Given the description of an element on the screen output the (x, y) to click on. 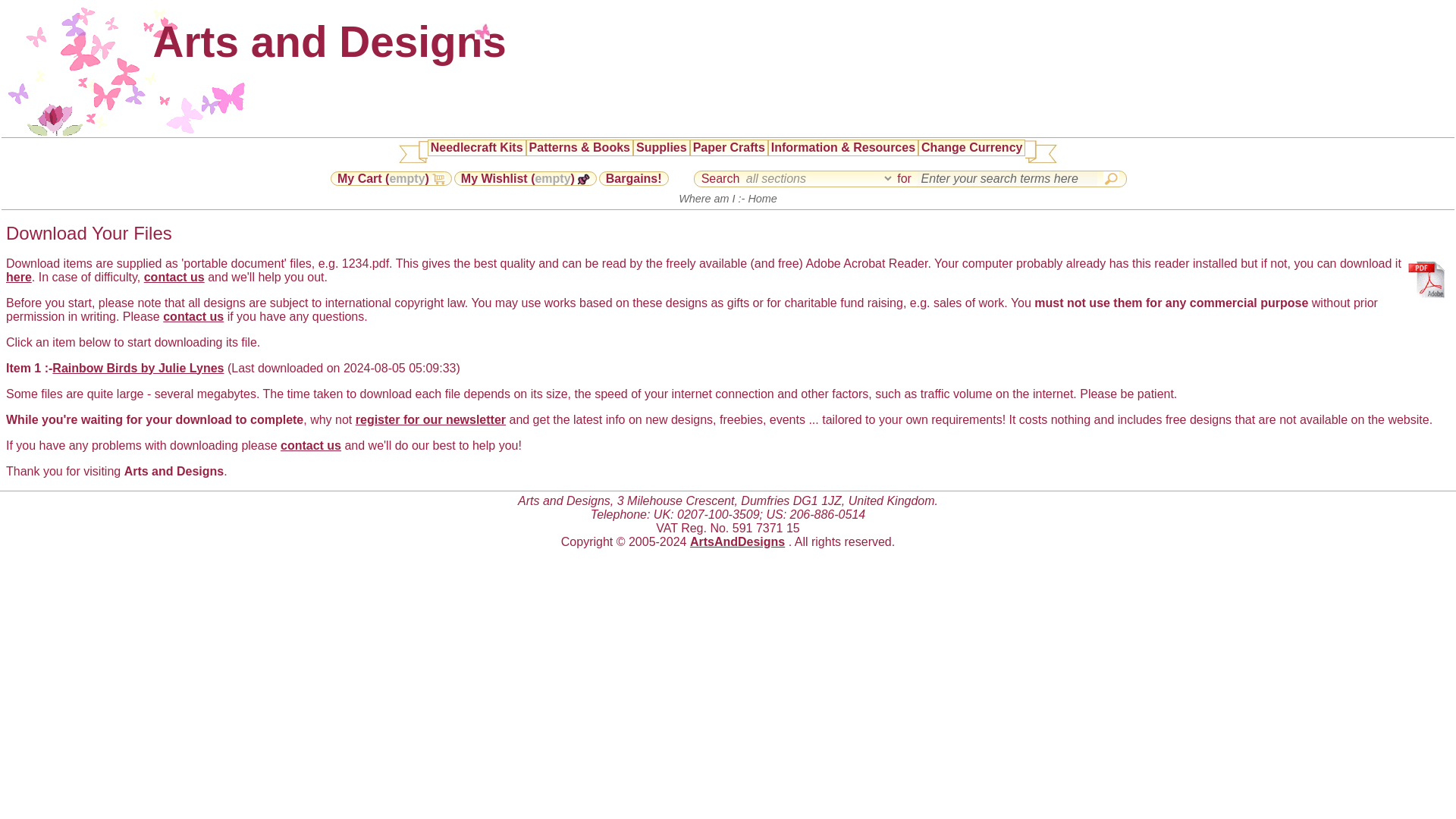
Supplies (661, 147)
ArtsAndDesigns (737, 541)
Paper Crafts (729, 147)
Needlecraft Kits (476, 147)
Enter your search terms here (1007, 178)
click to start downloading Rainbow Birds (138, 367)
bargains galore in our bargain basement (633, 178)
click to see your wish list (525, 178)
Bargains! (633, 178)
here (18, 276)
Find items in  containing all your search words (1111, 177)
Click for all Needlecraft Kits (476, 147)
contact us (193, 315)
